Given the description of an element on the screen output the (x, y) to click on. 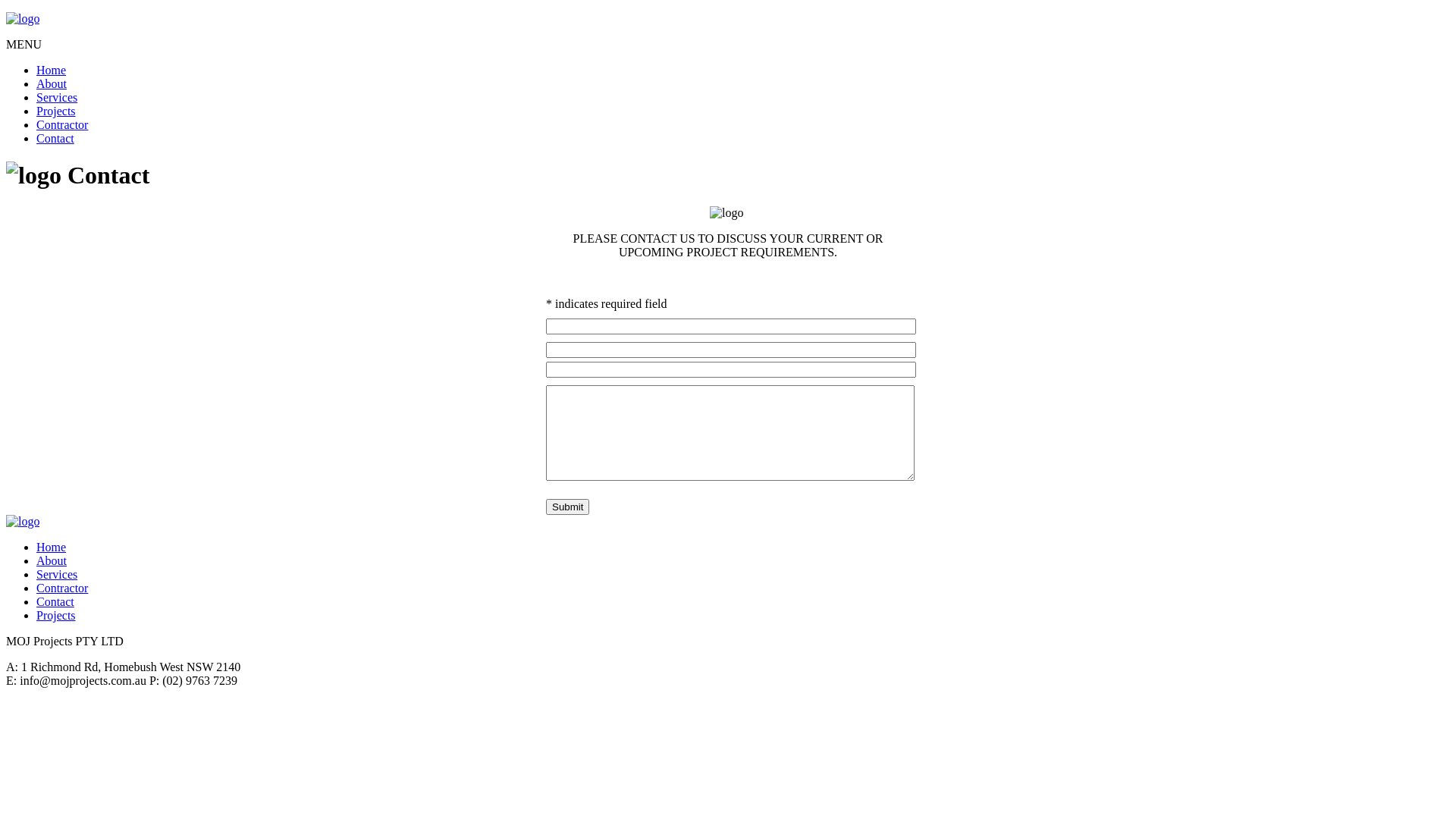
Submit Element type: text (567, 506)
About Element type: text (51, 560)
Contact Element type: text (55, 137)
Services Element type: text (56, 97)
Contact Element type: text (55, 601)
Home Element type: text (50, 69)
Projects Element type: text (55, 110)
Services Element type: text (56, 573)
About Element type: text (51, 83)
Contractor Element type: text (61, 587)
Home Element type: text (50, 546)
Contractor Element type: text (61, 124)
Projects Element type: text (55, 614)
